Given the description of an element on the screen output the (x, y) to click on. 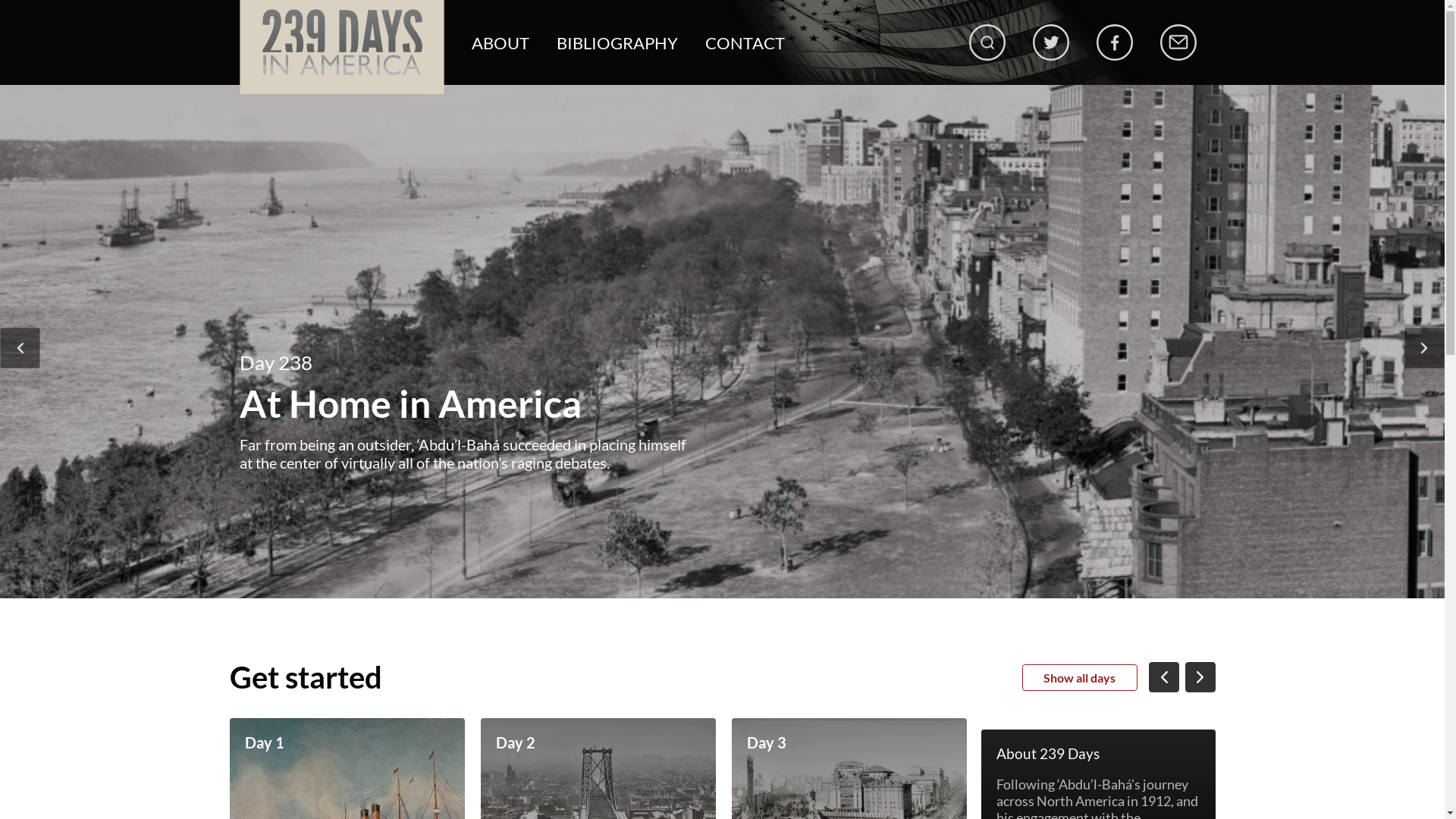
Previous Element type: text (1163, 677)
BIBLIOGRAPHY Element type: text (616, 41)
ABOUT Element type: text (500, 41)
Previous Element type: text (20, 347)
CONTACT Element type: text (744, 41)
Show all days Element type: text (1079, 677)
Next Element type: text (1199, 677)
Next Element type: text (1424, 347)
